Given the description of an element on the screen output the (x, y) to click on. 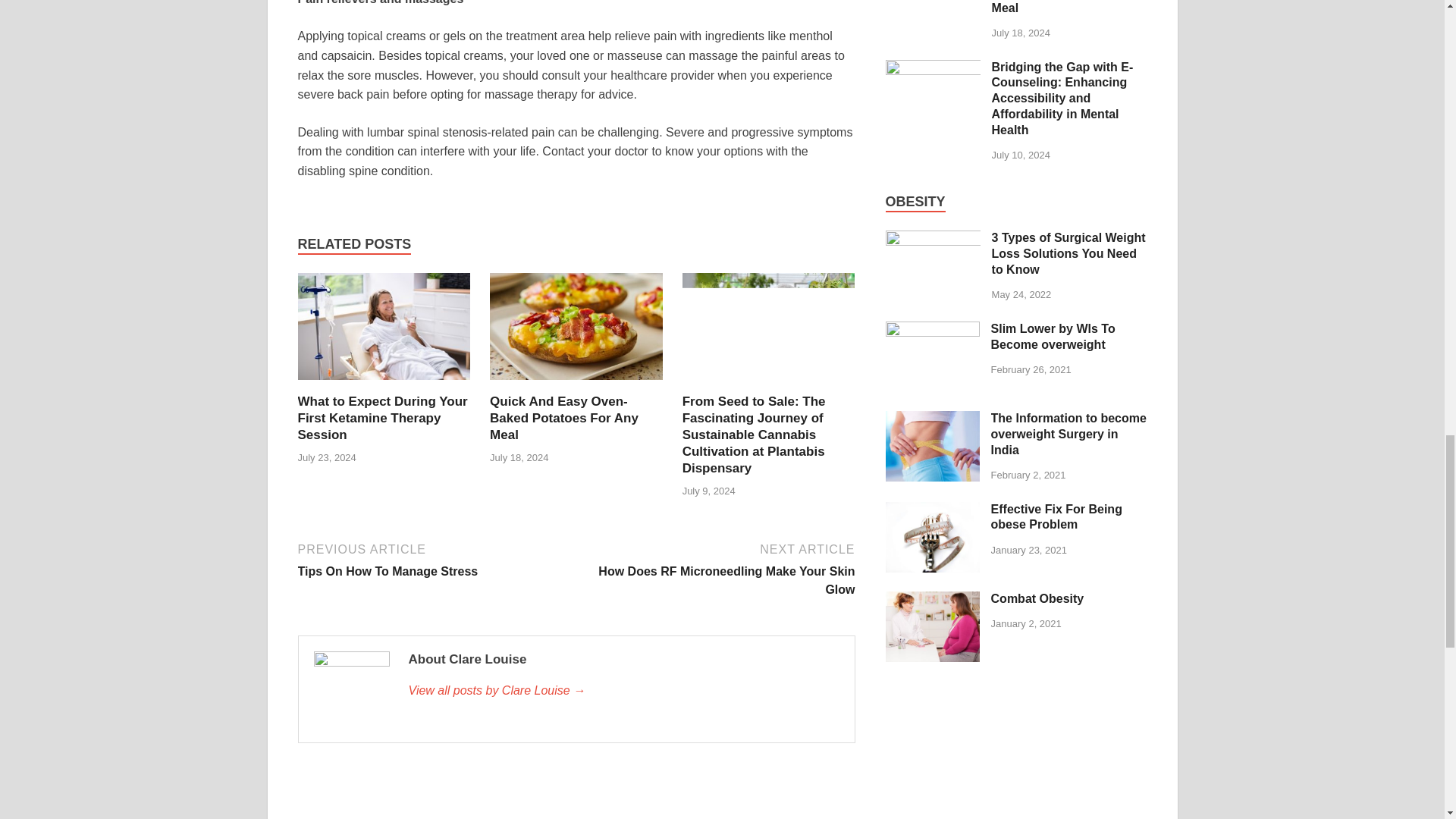
What to Expect During Your First Ketamine Therapy Session (717, 568)
What to Expect During Your First Ketamine Therapy Session (382, 417)
Quick And Easy Oven-Baked Potatoes For Any Meal (434, 559)
What to Expect During Your First Ketamine Therapy Session (383, 383)
Quick And Easy Oven-Baked Potatoes For Any Meal (575, 383)
Quick And Easy Oven-Baked Potatoes For Any Meal (382, 417)
Clare Louise (564, 417)
